Given the description of an element on the screen output the (x, y) to click on. 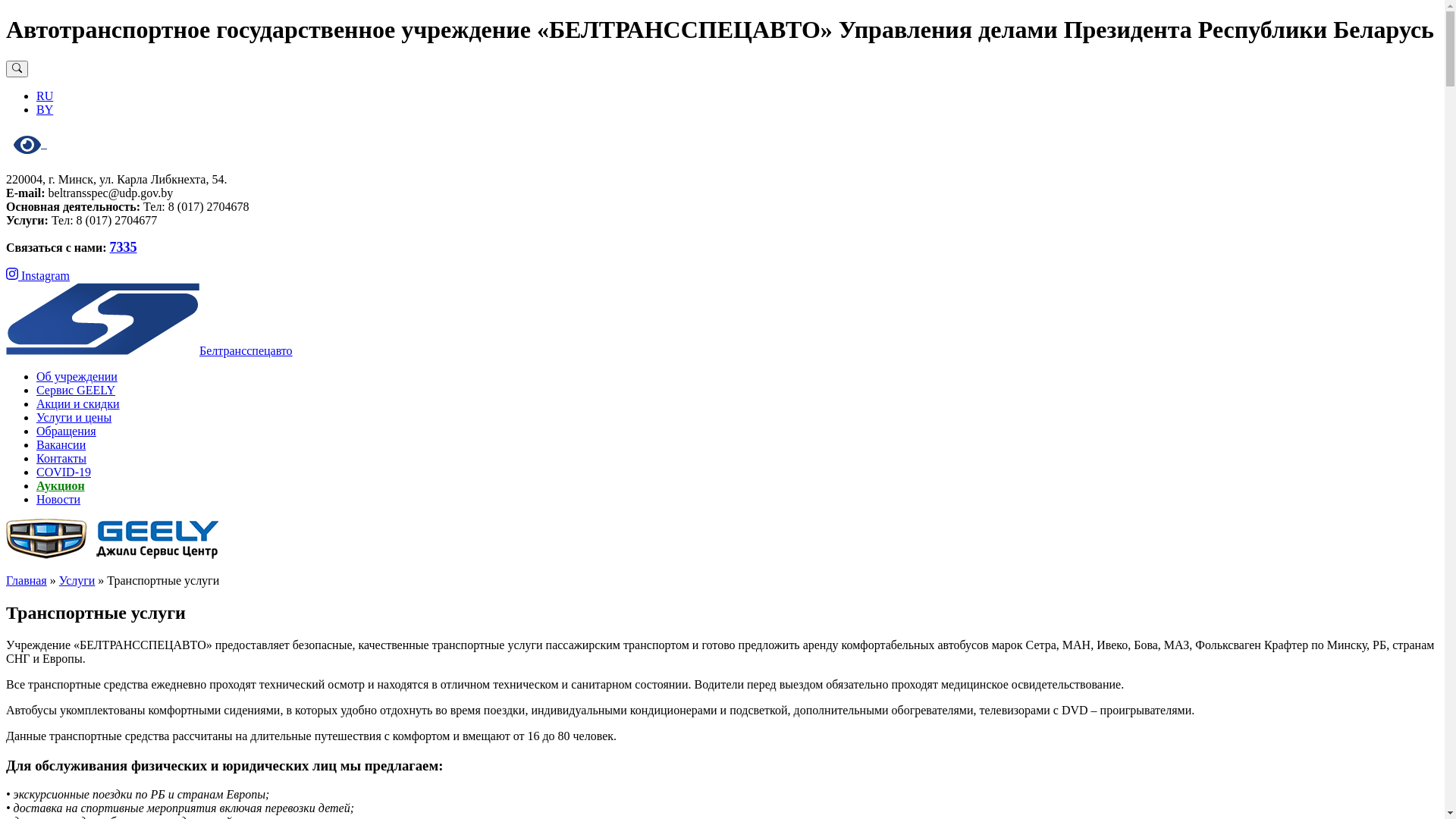
COVID-19 Element type: text (63, 471)
BY Element type: text (44, 109)
RU Element type: text (44, 95)
Instagram Element type: text (37, 275)
7335 Element type: text (122, 247)
